Given the description of an element on the screen output the (x, y) to click on. 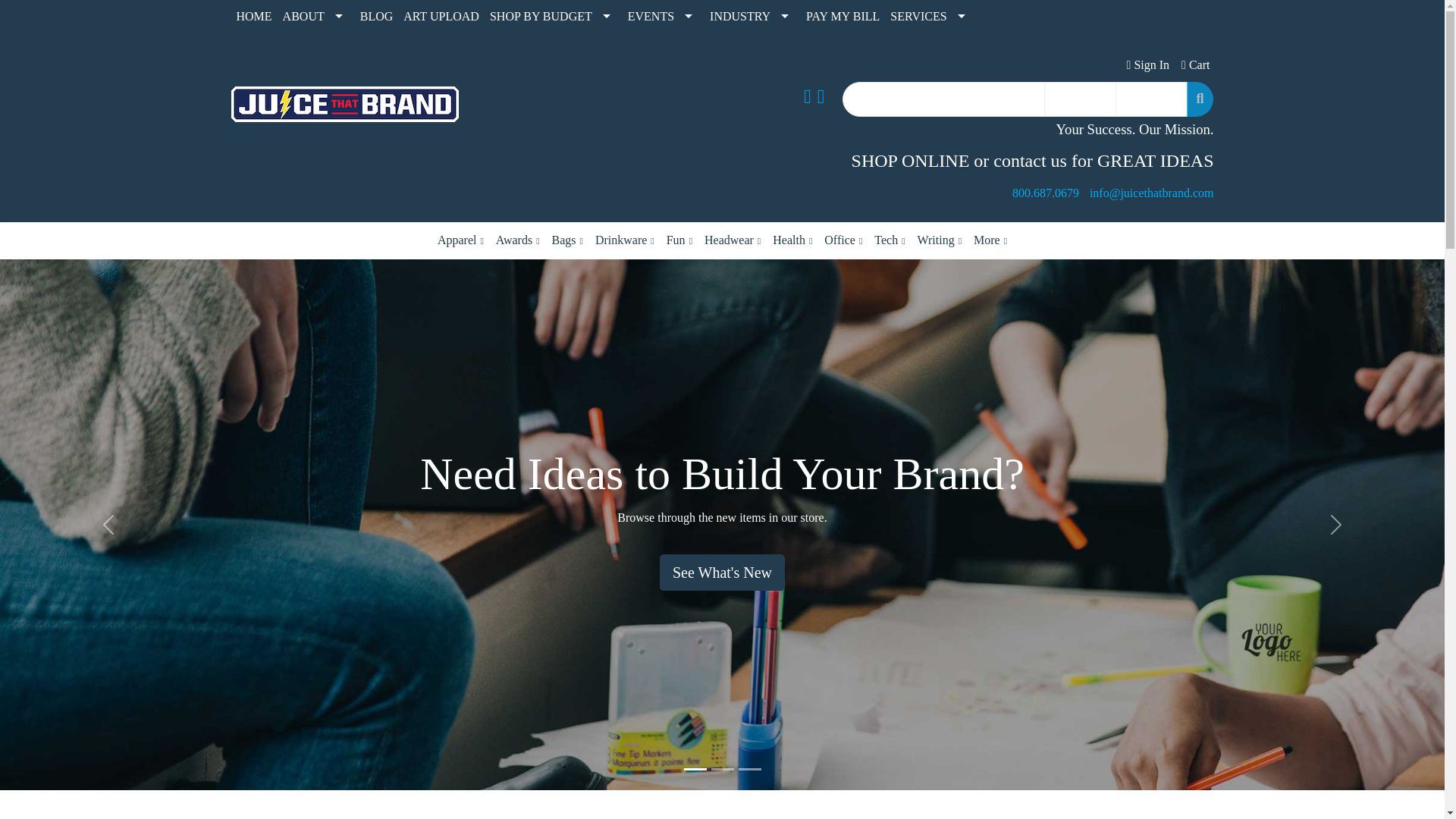
ABOUT (316, 16)
ART UPLOAD (440, 16)
HOME (253, 16)
SHOP BY BUDGET (553, 16)
INDUSTRY (752, 16)
BLOG (376, 16)
EVENTS (663, 16)
